Given the description of an element on the screen output the (x, y) to click on. 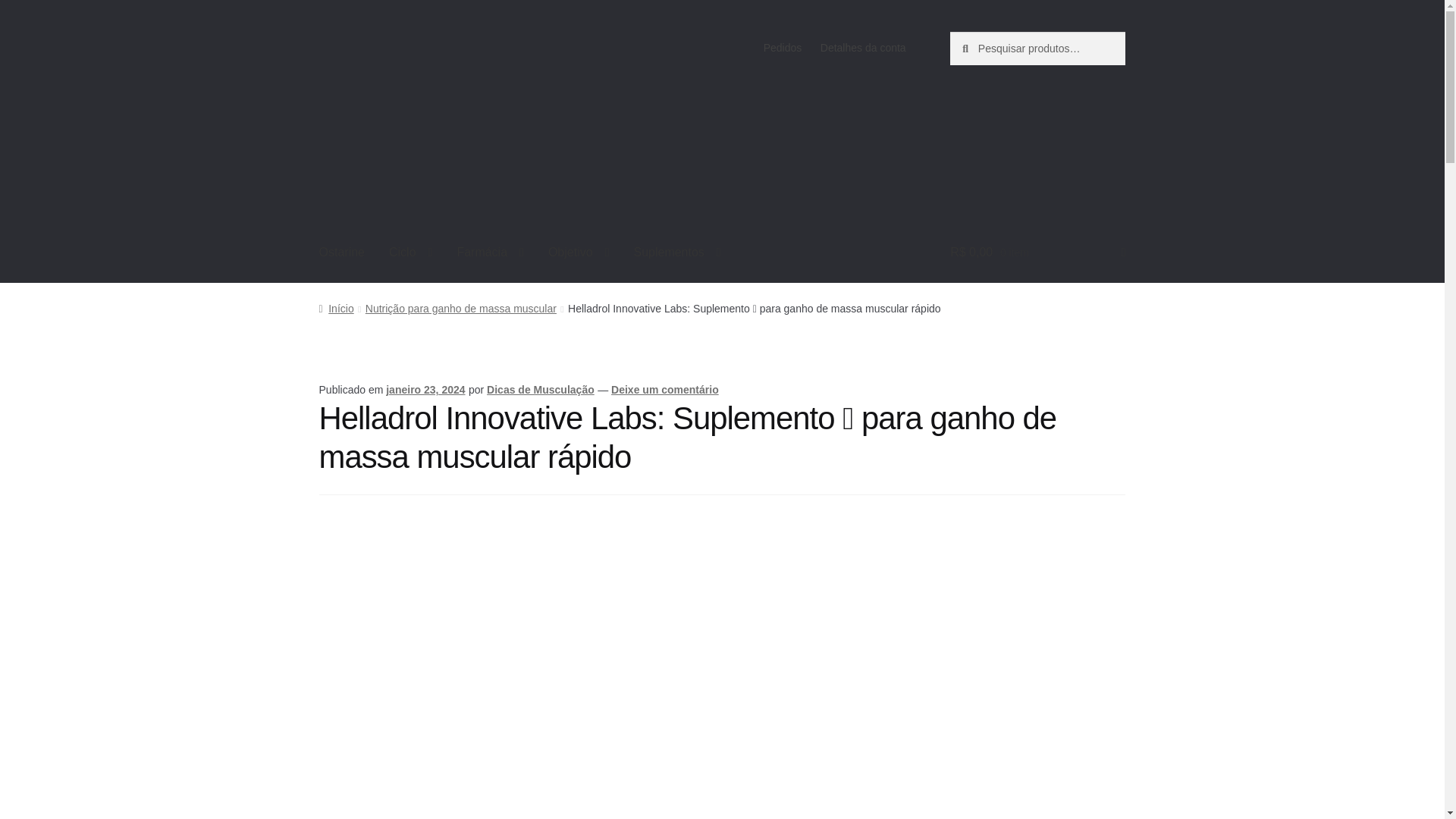
Ver seu Carrinho (1037, 252)
Pedidos (782, 47)
Objetivo (578, 252)
Ostarine (342, 252)
Suplementos (676, 252)
Detalhes da conta (862, 47)
Ciclo (410, 252)
